Given the description of an element on the screen output the (x, y) to click on. 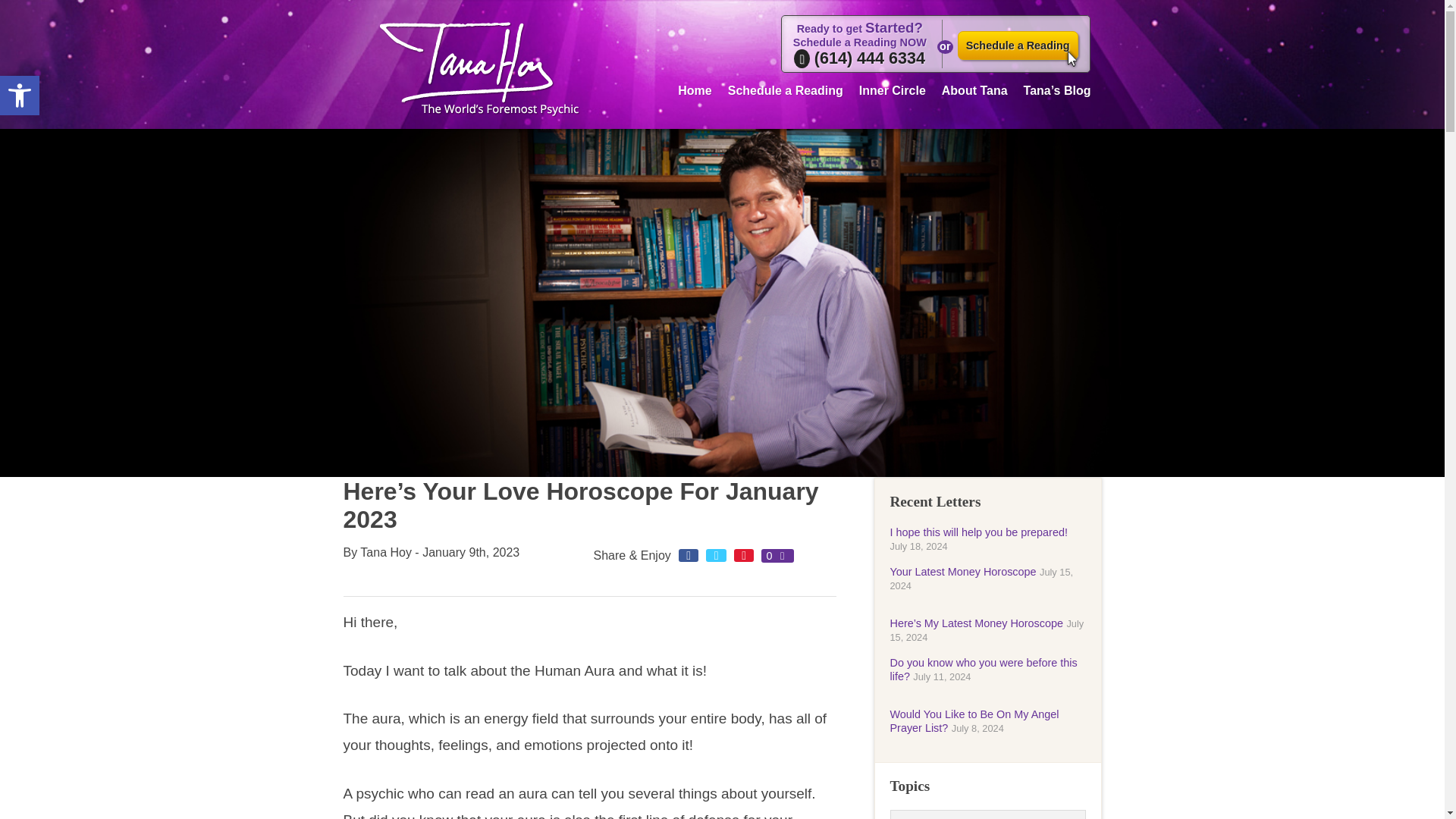
0 (777, 555)
Schedule a Reading (1018, 45)
Your Latest Money Horoscope (962, 571)
About Tana (974, 87)
Accessibility Tools (19, 95)
Do you know who you were before this life? (983, 669)
Schedule a Reading (785, 87)
Home (694, 87)
Would You Like to Be On My Angel Prayer List? (974, 720)
Accessibility Tools (19, 95)
I hope this will help you be prepared! (19, 95)
Inner Circle (978, 532)
